Given the description of an element on the screen output the (x, y) to click on. 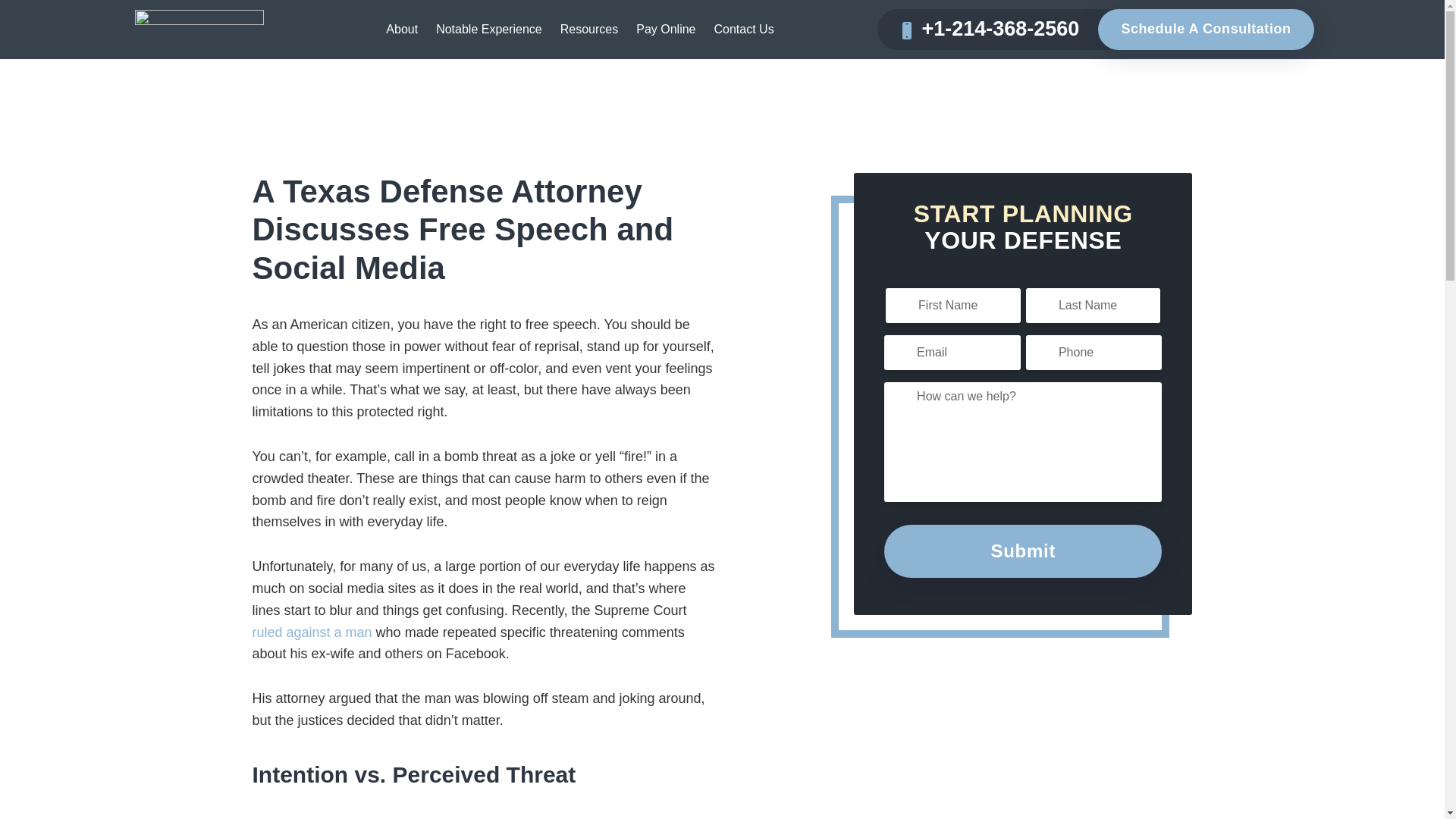
Notable Experience (488, 29)
About (401, 29)
Submit (1022, 551)
Whalen Law Office (198, 65)
